Given the description of an element on the screen output the (x, y) to click on. 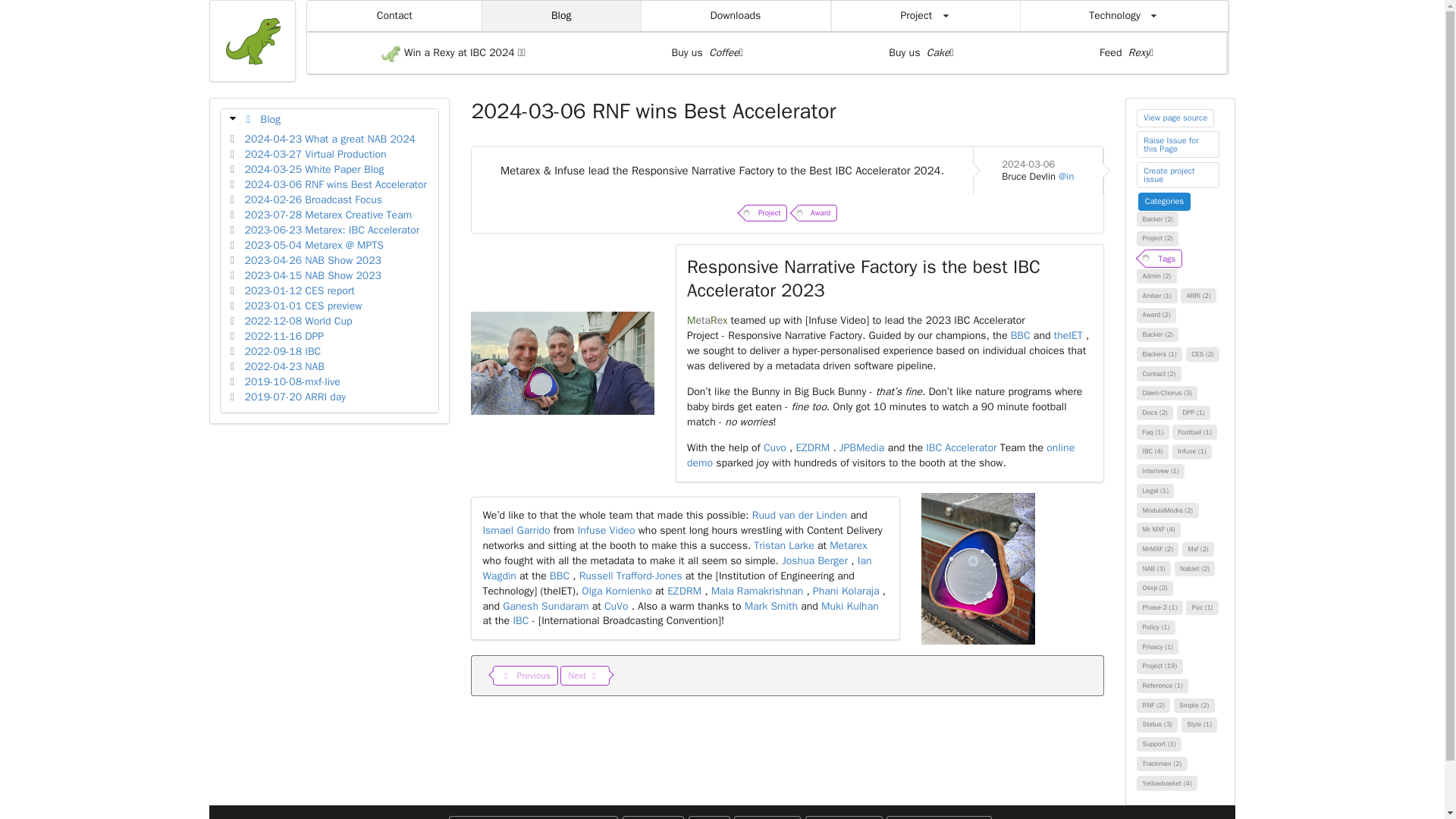
2023-04-15 NAB Show 2023 (312, 275)
Award (817, 212)
MXF-LIVE at ARRI International Broadcast Day 2019 (295, 396)
Contact (394, 15)
2023-06-23 Metarex: IBC Accelerator (332, 229)
Original MXF-Live Specification (292, 381)
MetaRex at NAB 2022 in Las Vegas (284, 366)
2019-10-08-mxf-live (292, 381)
Blog (560, 15)
Project (766, 212)
2024-04-23 What a great NAB 2024 (329, 138)
2023-01-01 CES preview (303, 305)
2024-03-25 White Paper Blog (314, 169)
2024-04-23 What a great NAB 2024 (329, 138)
2022-09-18 IBC (282, 350)
